Given the description of an element on the screen output the (x, y) to click on. 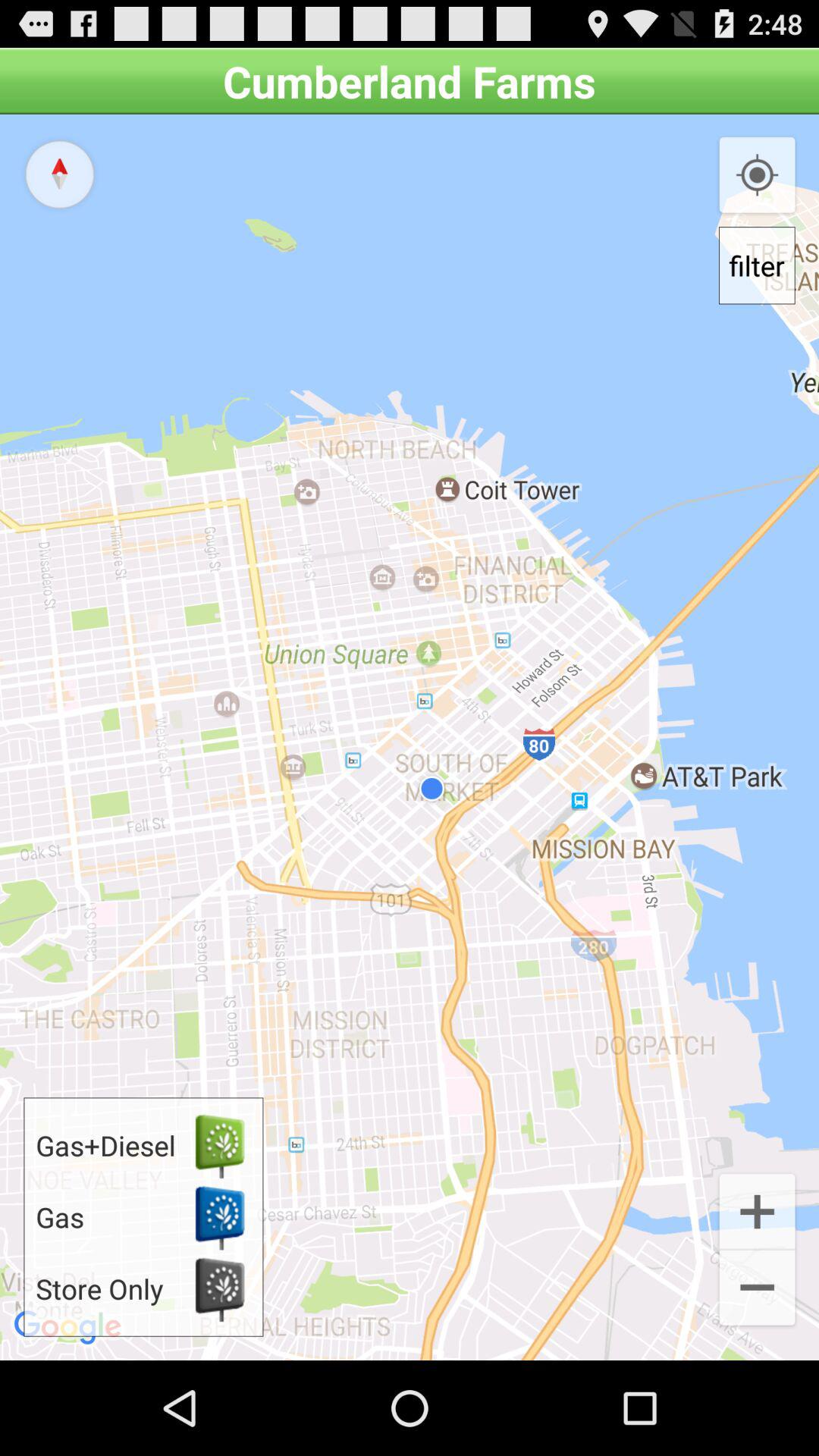
open app above gas+diesel (59, 173)
